Given the description of an element on the screen output the (x, y) to click on. 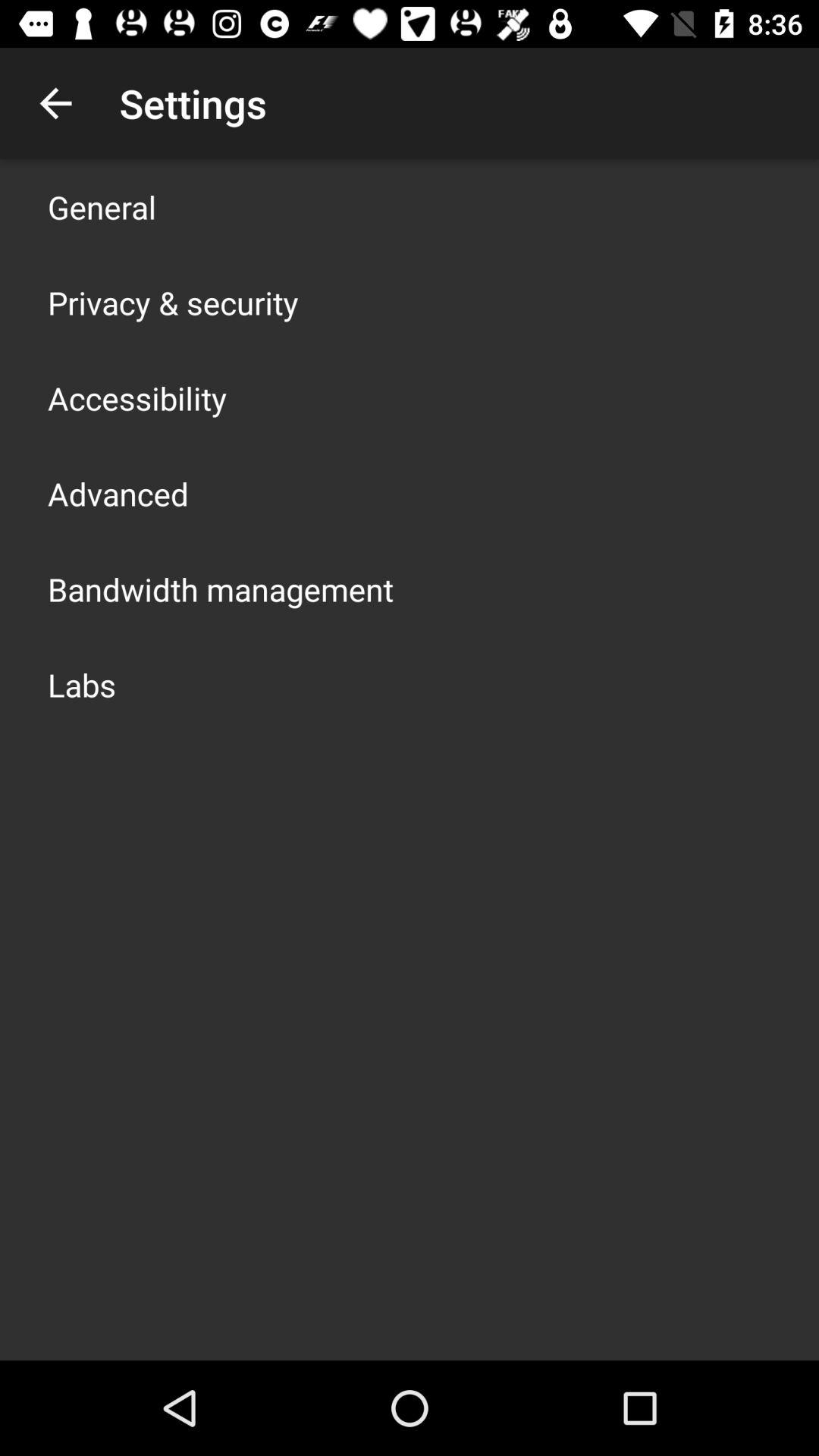
select the advanced (117, 493)
